Given the description of an element on the screen output the (x, y) to click on. 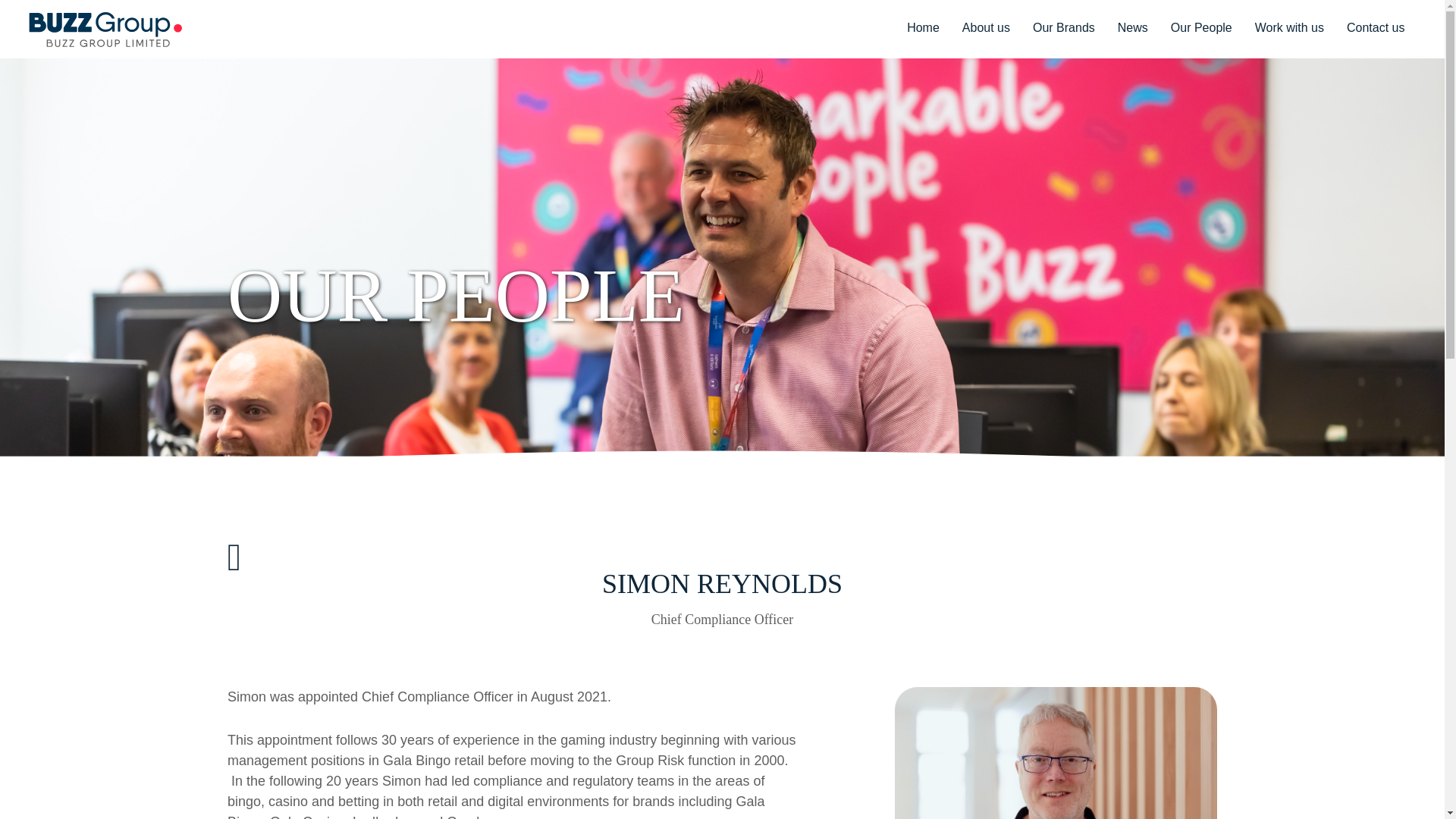
Work with us (1288, 28)
Our People (1201, 28)
Our Brands (1064, 28)
News (1132, 28)
About us (985, 28)
Contact us (1374, 28)
Home (922, 28)
